Given the description of an element on the screen output the (x, y) to click on. 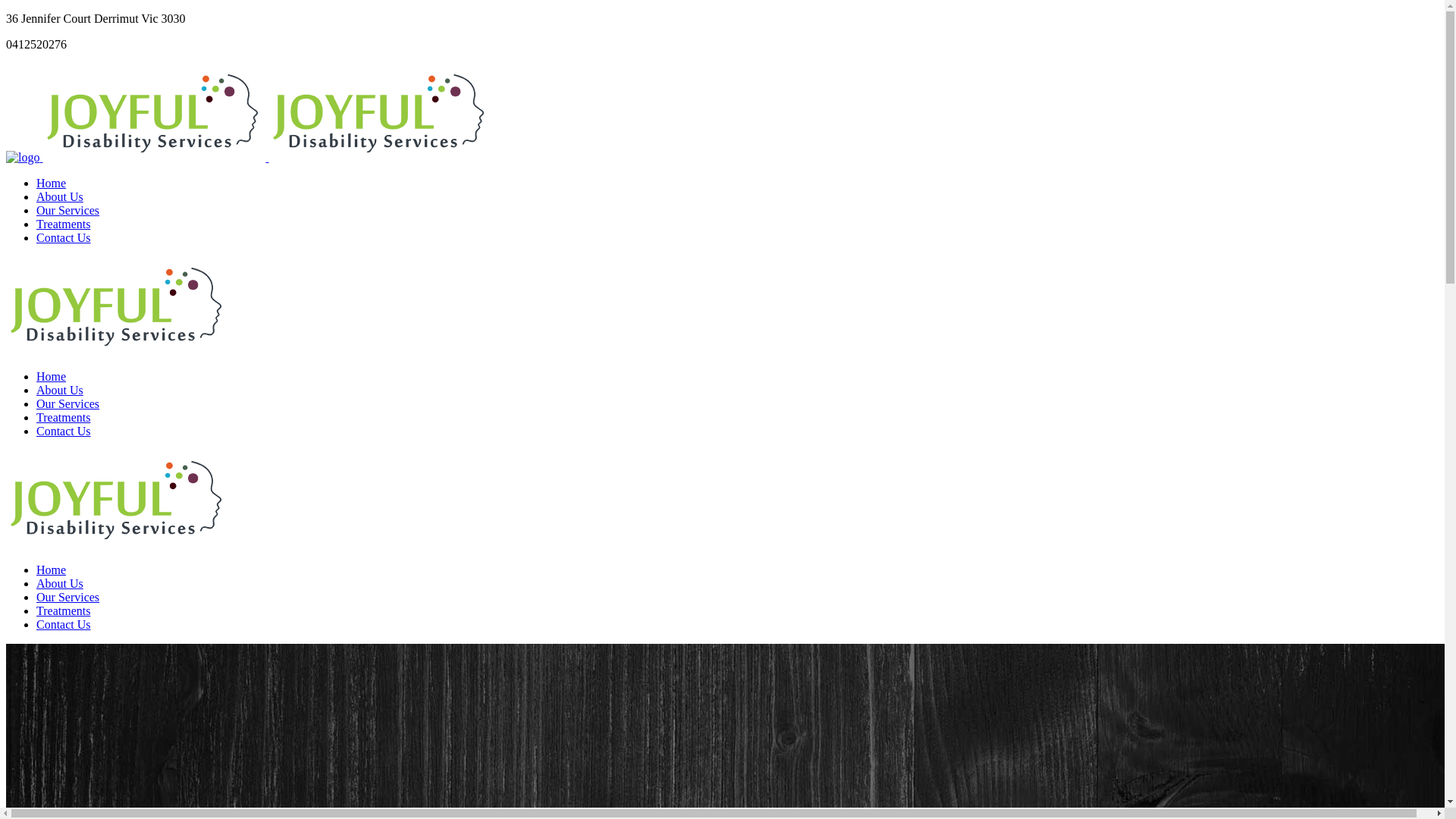
About Us Element type: text (59, 583)
Home Element type: text (50, 376)
About Us Element type: text (59, 389)
Treatments Element type: text (63, 610)
Our Services Element type: text (67, 403)
Treatments Element type: text (63, 417)
Treatments Element type: text (63, 223)
Home Element type: text (50, 569)
Contact Us Element type: text (63, 237)
Our Services Element type: text (67, 596)
Contact Us Element type: text (63, 624)
Home Element type: text (50, 182)
Contact Us Element type: text (63, 430)
Our Services Element type: text (67, 209)
About Us Element type: text (59, 196)
